Given the description of an element on the screen output the (x, y) to click on. 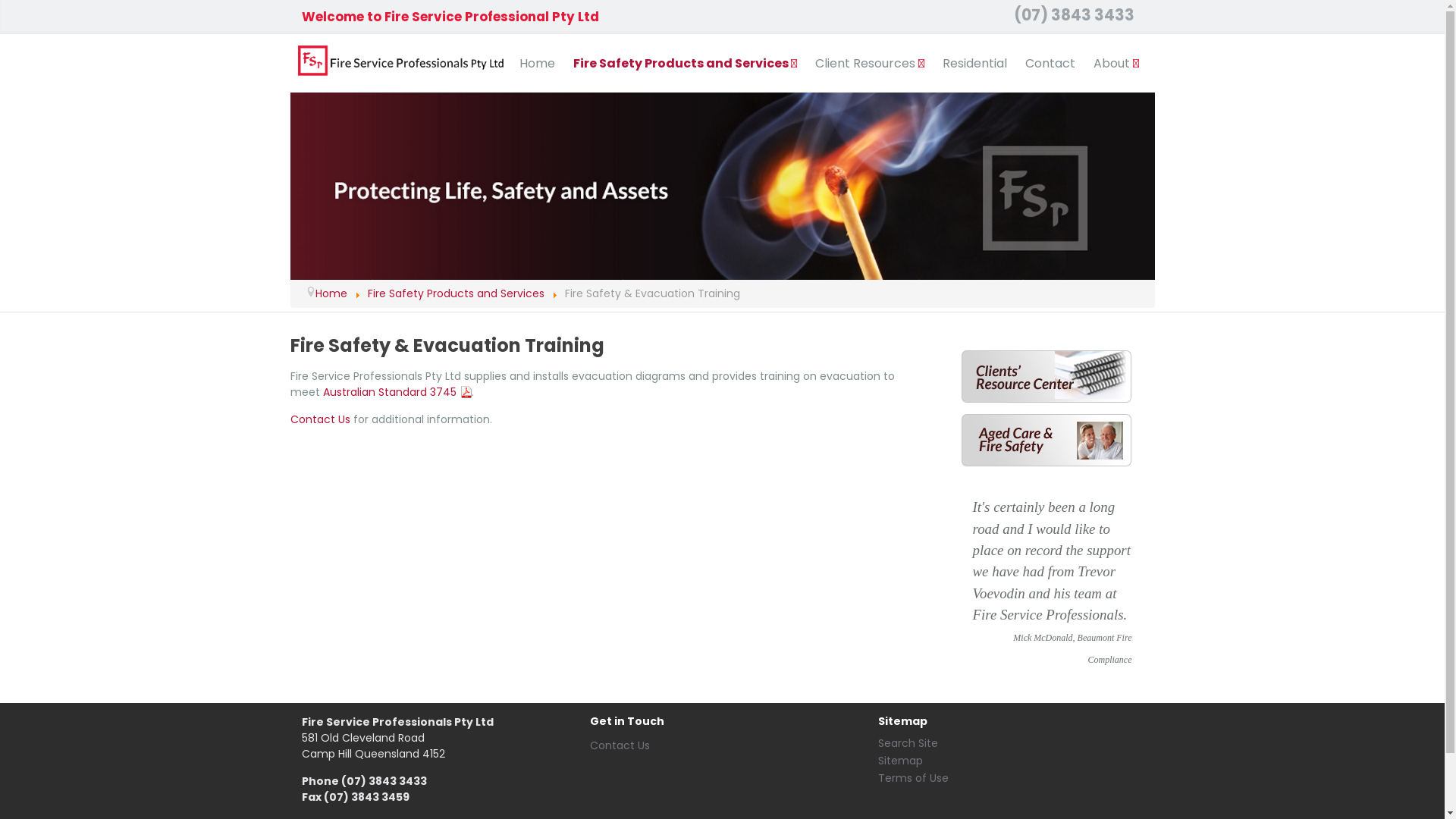
Contact Us Element type: text (619, 745)
Aged Care and Fire Safety Element type: hover (1046, 439)
Fire Safety Products and Services Element type: text (455, 293)
Client Resources Element type: text (868, 63)
Fire Safety Products and Services Element type: text (685, 63)
Residential Element type: text (973, 63)
Australian Standard 3745 Element type: text (397, 391)
Contact Element type: text (1050, 63)
Search Site Element type: text (908, 742)
Contact Us Element type: text (319, 418)
Home Element type: text (331, 293)
Terms of Use Element type: text (913, 777)
About Element type: text (1116, 63)
Sitemap Element type: text (900, 760)
Clients' Resource Centre Element type: hover (1046, 375)
Home Element type: text (536, 63)
